Given the description of an element on the screen output the (x, y) to click on. 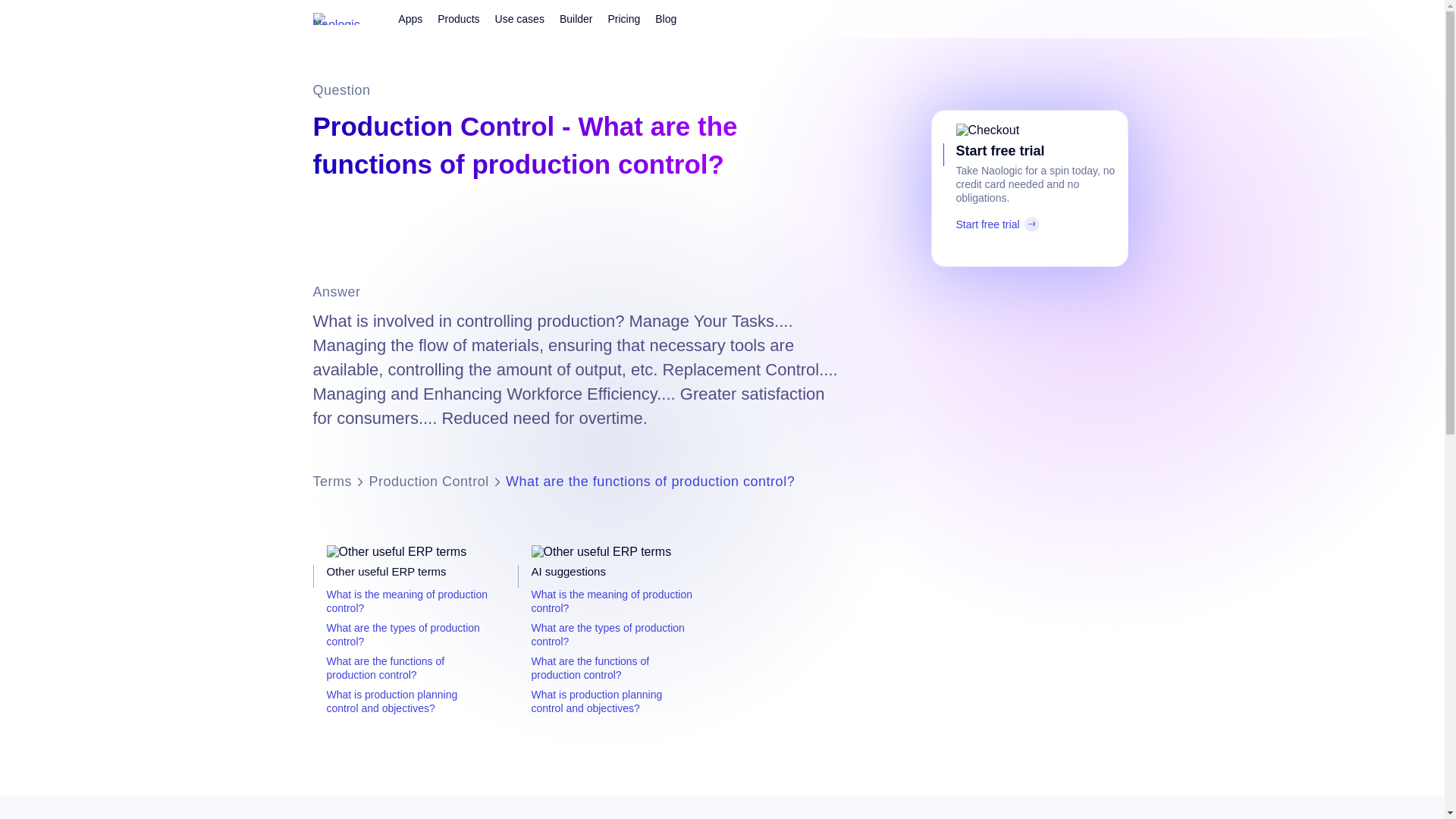
Pricing (623, 18)
Builder (575, 18)
Blog (665, 18)
Pricing (623, 18)
Blog (665, 18)
Apps (409, 18)
Use cases (519, 18)
Terms (332, 481)
Apps (409, 18)
Products (457, 18)
